Given the description of an element on the screen output the (x, y) to click on. 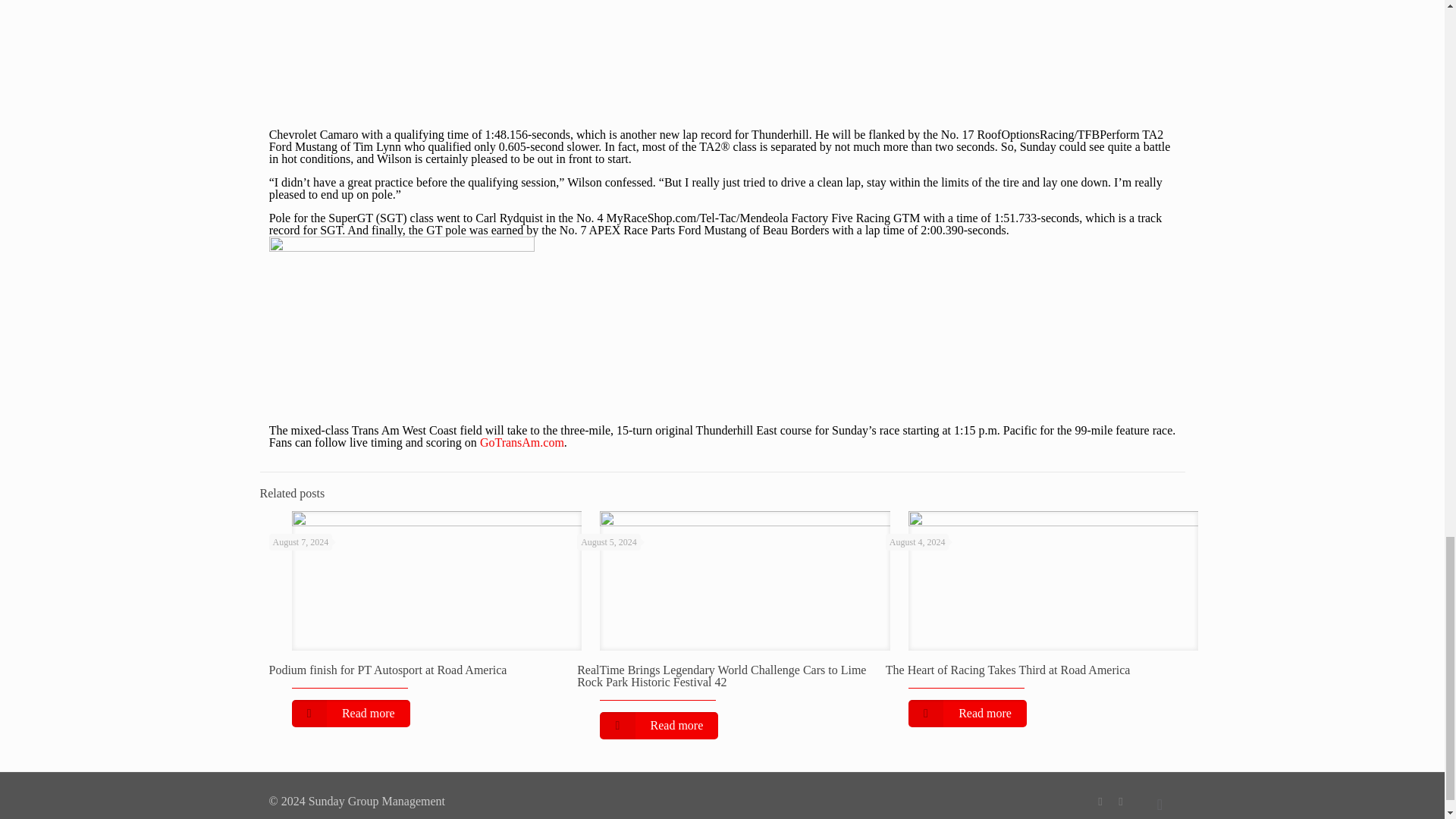
Read more (967, 713)
Twitter (1121, 801)
Read more (350, 713)
The Heart of Racing Takes Third at Road America (1008, 669)
Read more (658, 725)
Facebook (1100, 801)
GoTransAm.com (522, 441)
Podium finish for PT Autosport at Road America (386, 669)
